Given the description of an element on the screen output the (x, y) to click on. 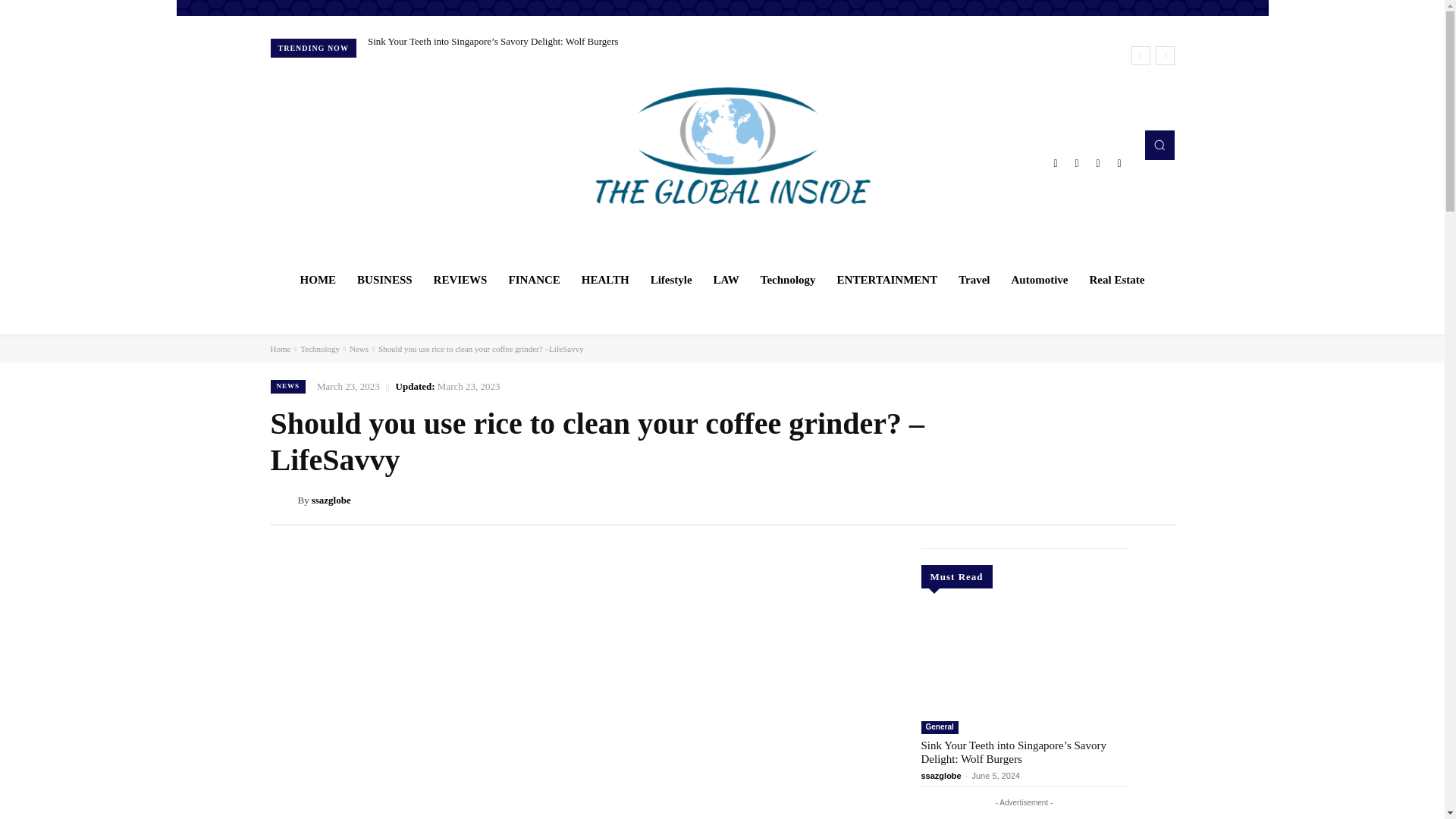
Twitter (1097, 162)
FINANCE (533, 279)
Facebook (1055, 162)
Technology (788, 279)
Instagram (1076, 162)
REVIEWS (460, 279)
Youtube (1118, 162)
Lifestyle (671, 279)
HOME (318, 279)
HEALTH (605, 279)
LAW (726, 279)
BUSINESS (384, 279)
